Given the description of an element on the screen output the (x, y) to click on. 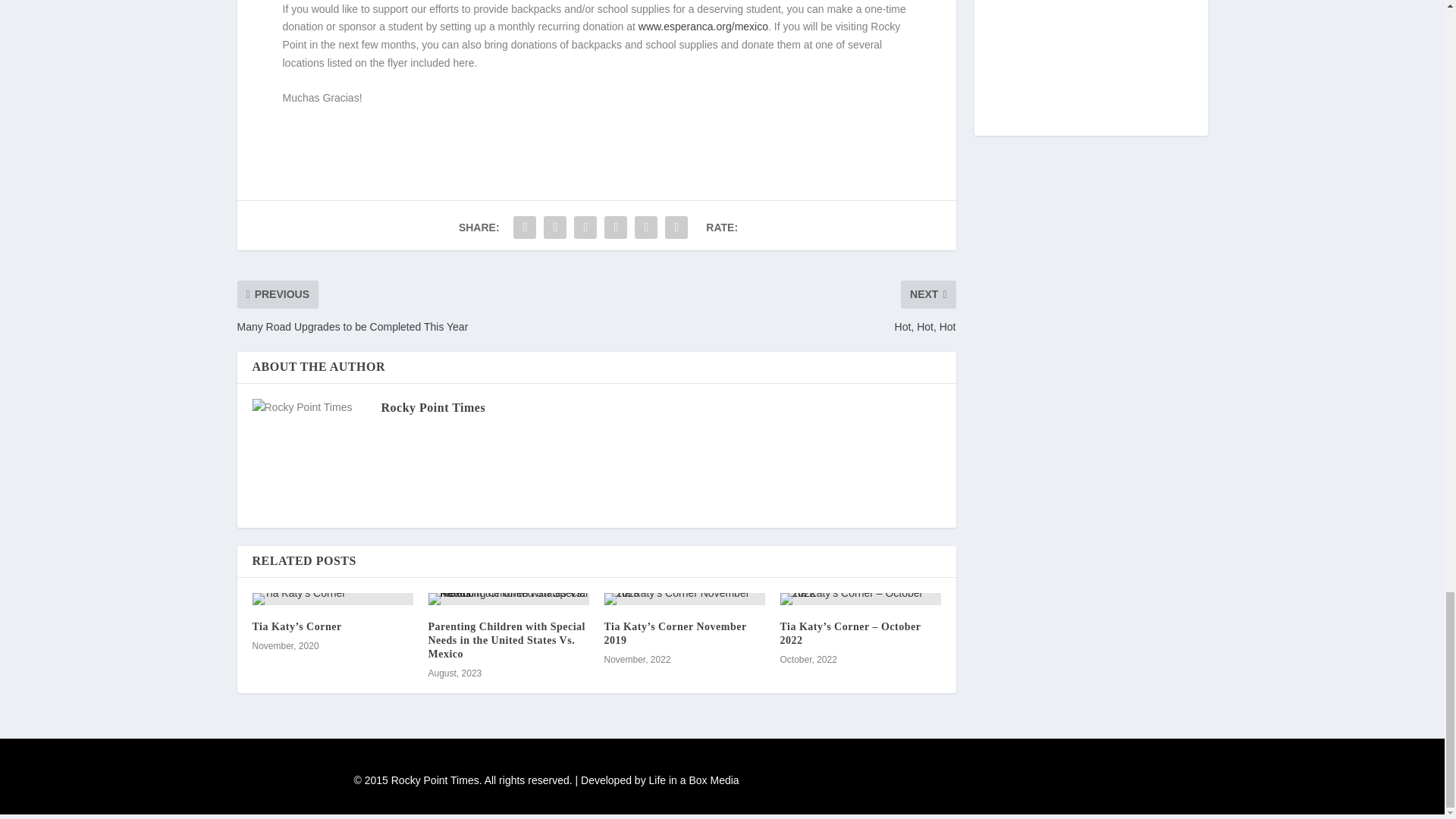
View all posts by Rocky Point Times (432, 407)
Rocky Point Times (432, 407)
